Given the description of an element on the screen output the (x, y) to click on. 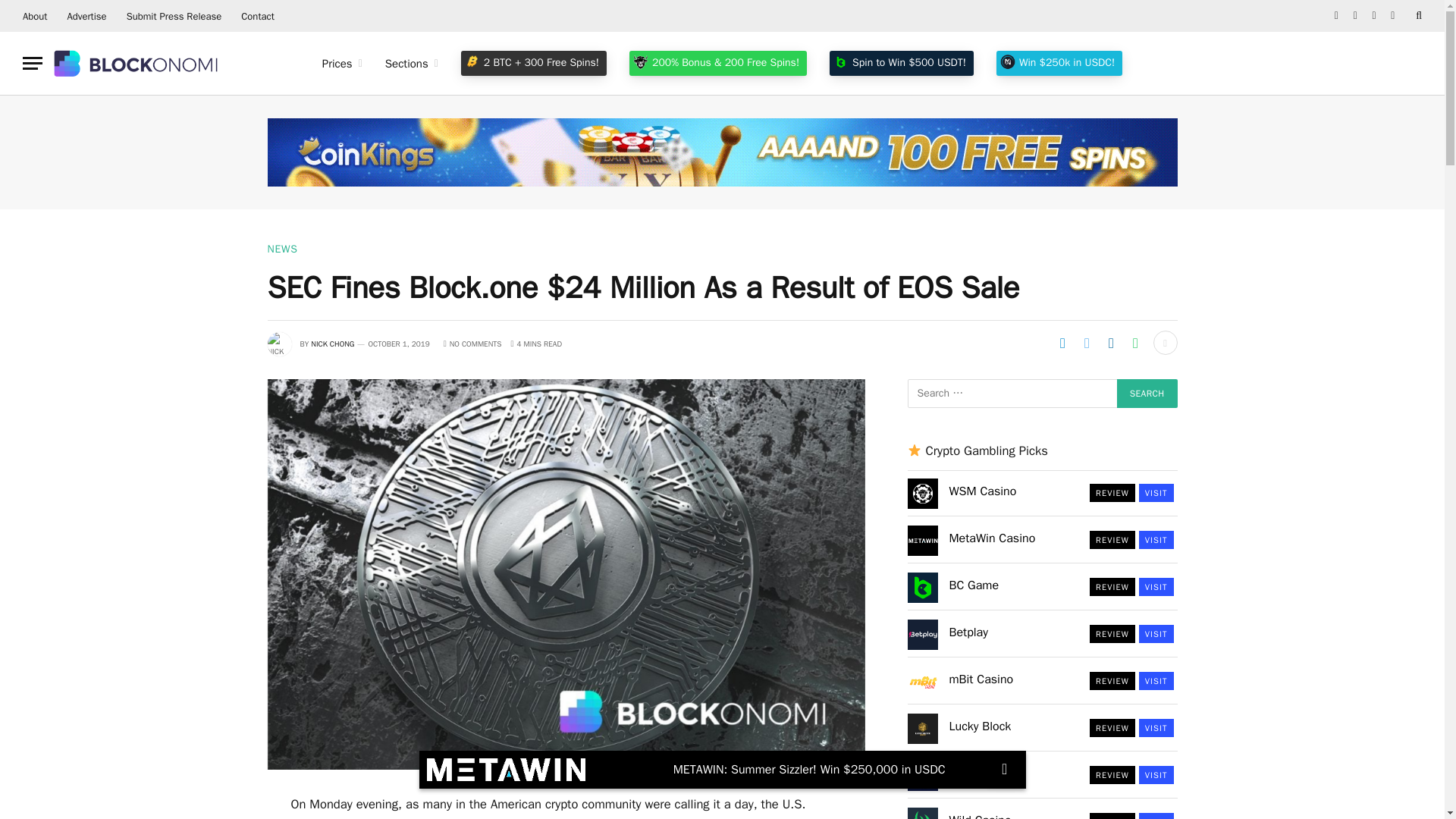
Search (1146, 393)
Posts by Nick Chong (332, 343)
Facebook (1336, 15)
Show More Social Sharing (1164, 342)
Advertise (86, 15)
Share on LinkedIn (1110, 342)
Submit Press Release (173, 15)
Share on Telegram (1062, 342)
Contact (257, 15)
Blockonomi (137, 62)
LinkedIn (1374, 15)
Prices (342, 63)
Search (1417, 15)
Share on WhatsApp (1135, 342)
About (34, 15)
